Given the description of an element on the screen output the (x, y) to click on. 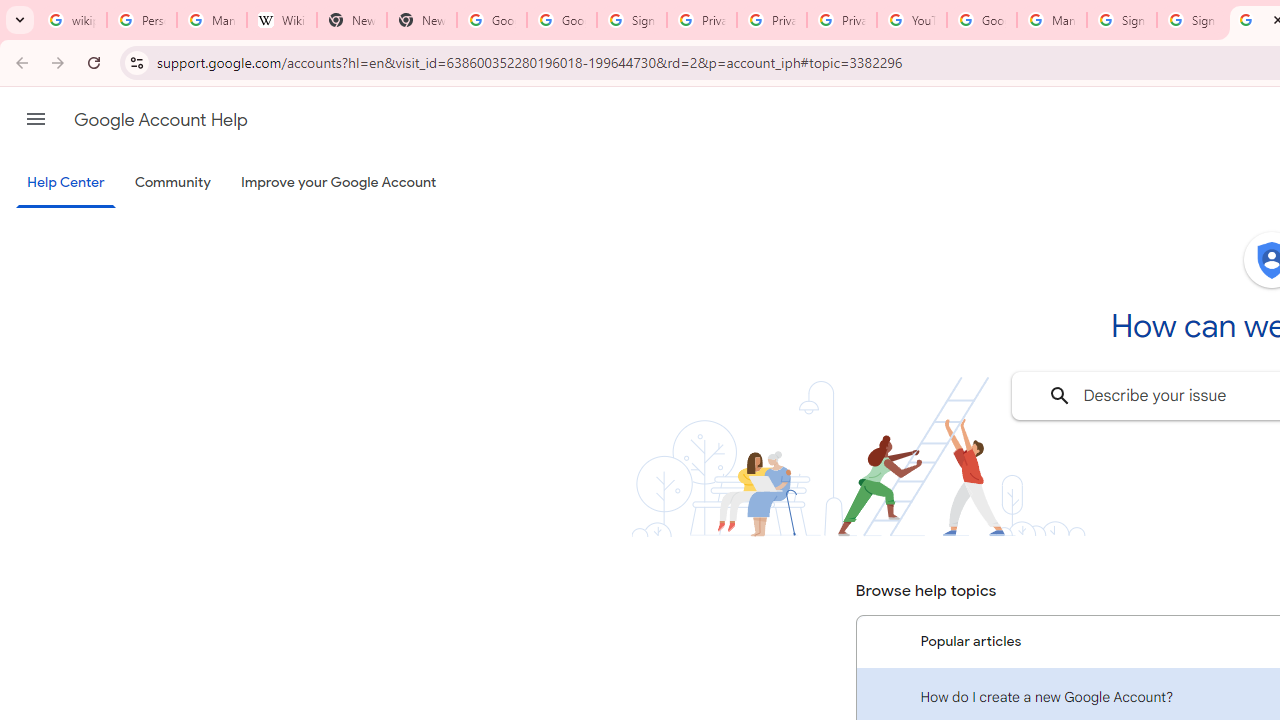
Community (171, 183)
Sign in - Google Accounts (1192, 20)
Manage your Location History - Google Search Help (211, 20)
Personalization & Google Search results - Google Search Help (141, 20)
Main menu (35, 119)
New Tab (351, 20)
Google Account Help (982, 20)
